Given the description of an element on the screen output the (x, y) to click on. 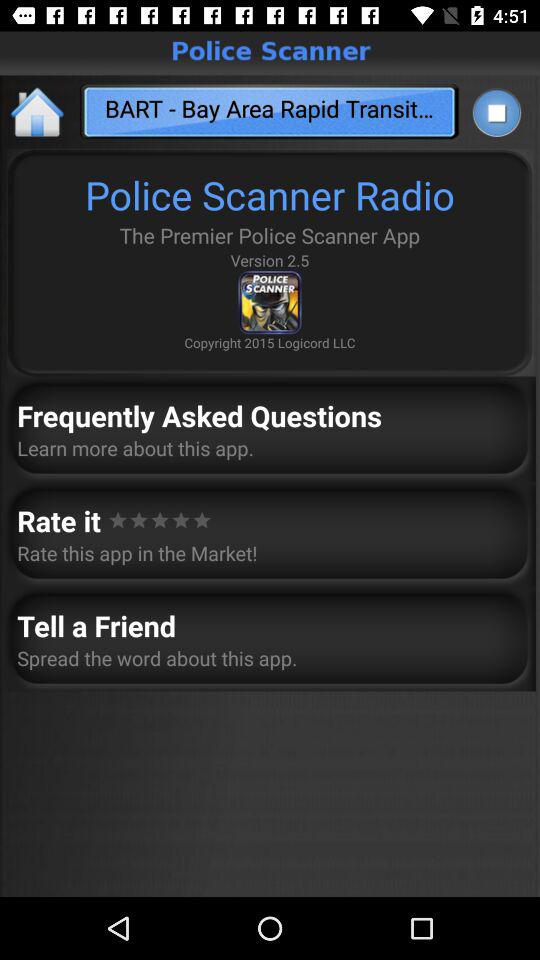
house (38, 111)
